Given the description of an element on the screen output the (x, y) to click on. 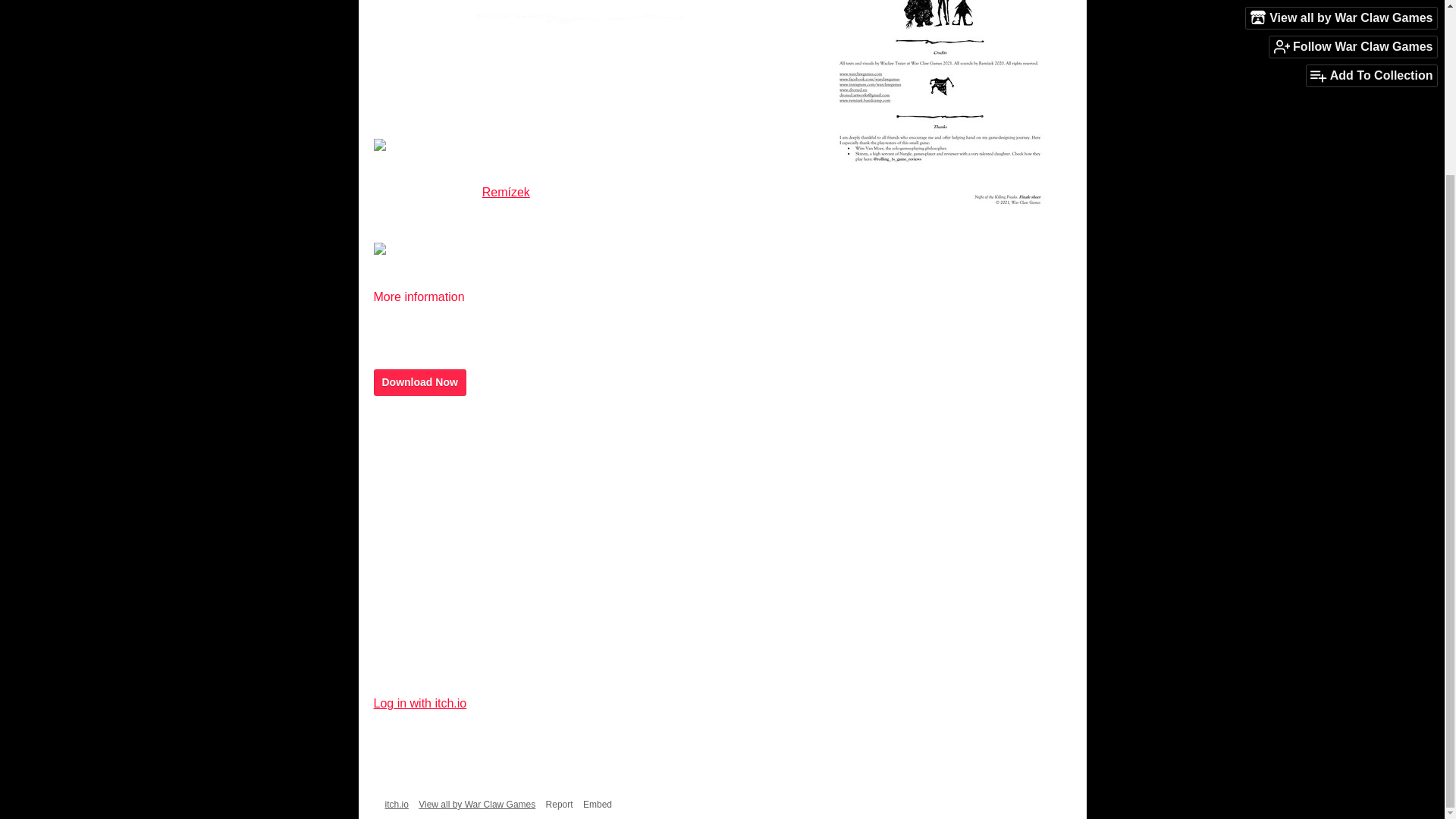
Embed (597, 804)
Download Now (418, 382)
itch.io (397, 804)
Game plan LETTER.pdf (440, 521)
Game booklet A4.pdf (432, 446)
Physical games (1019, 804)
Report (559, 804)
Log in with itch.io (418, 703)
Game plan A4.pdf (424, 471)
Free (1068, 804)
Soundtrack cover.jpg (434, 546)
More information (424, 296)
View all by War Claw Games (477, 804)
